Given the description of an element on the screen output the (x, y) to click on. 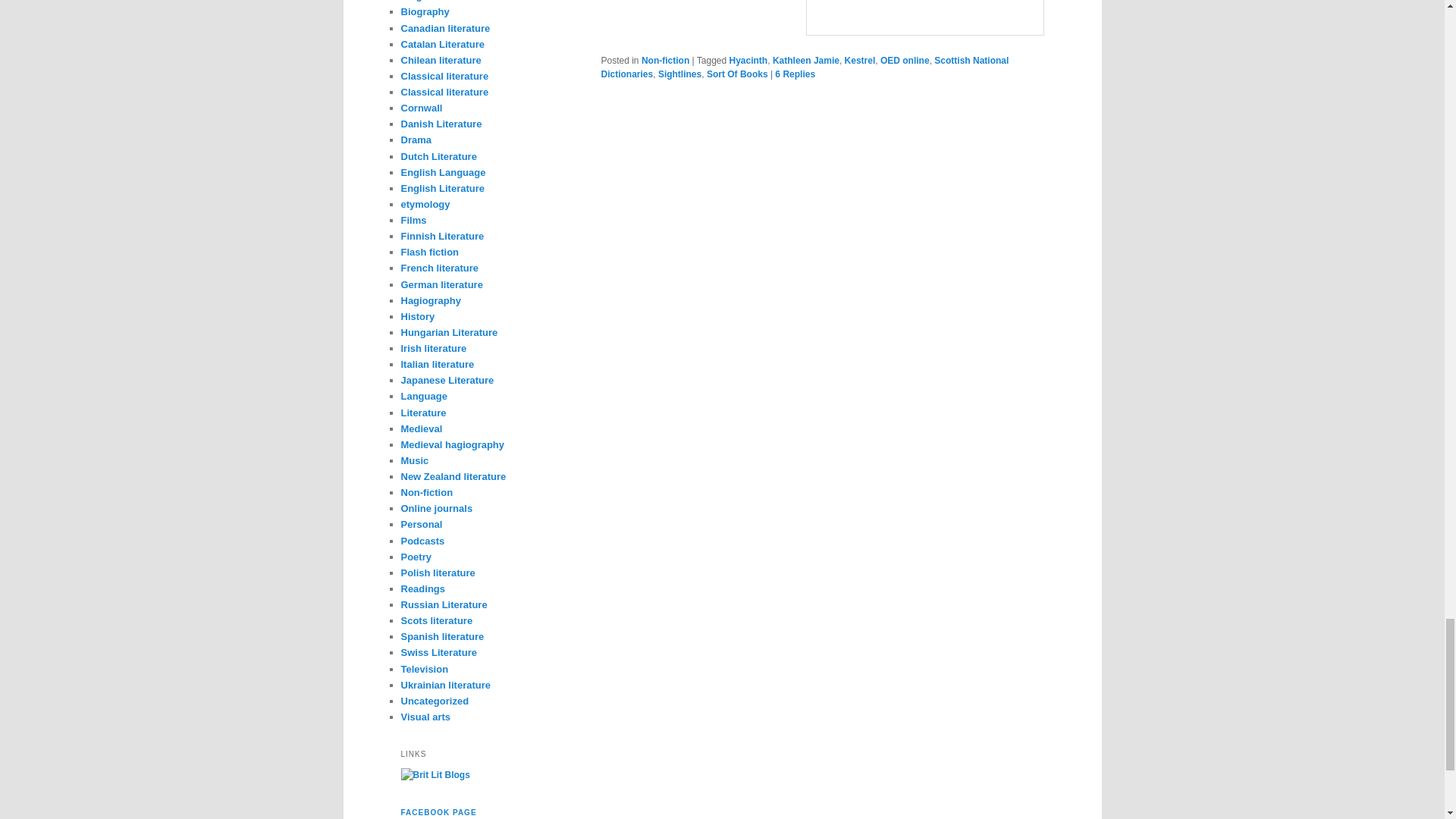
Sort Of Books (737, 73)
Kestrel (860, 60)
Non-fiction (665, 60)
OED online (905, 60)
Sightlines (679, 73)
Scottish National Dictionaries (804, 67)
Hyacinth (748, 60)
Kathleen Jamie (806, 60)
6 Replies (794, 73)
